Given the description of an element on the screen output the (x, y) to click on. 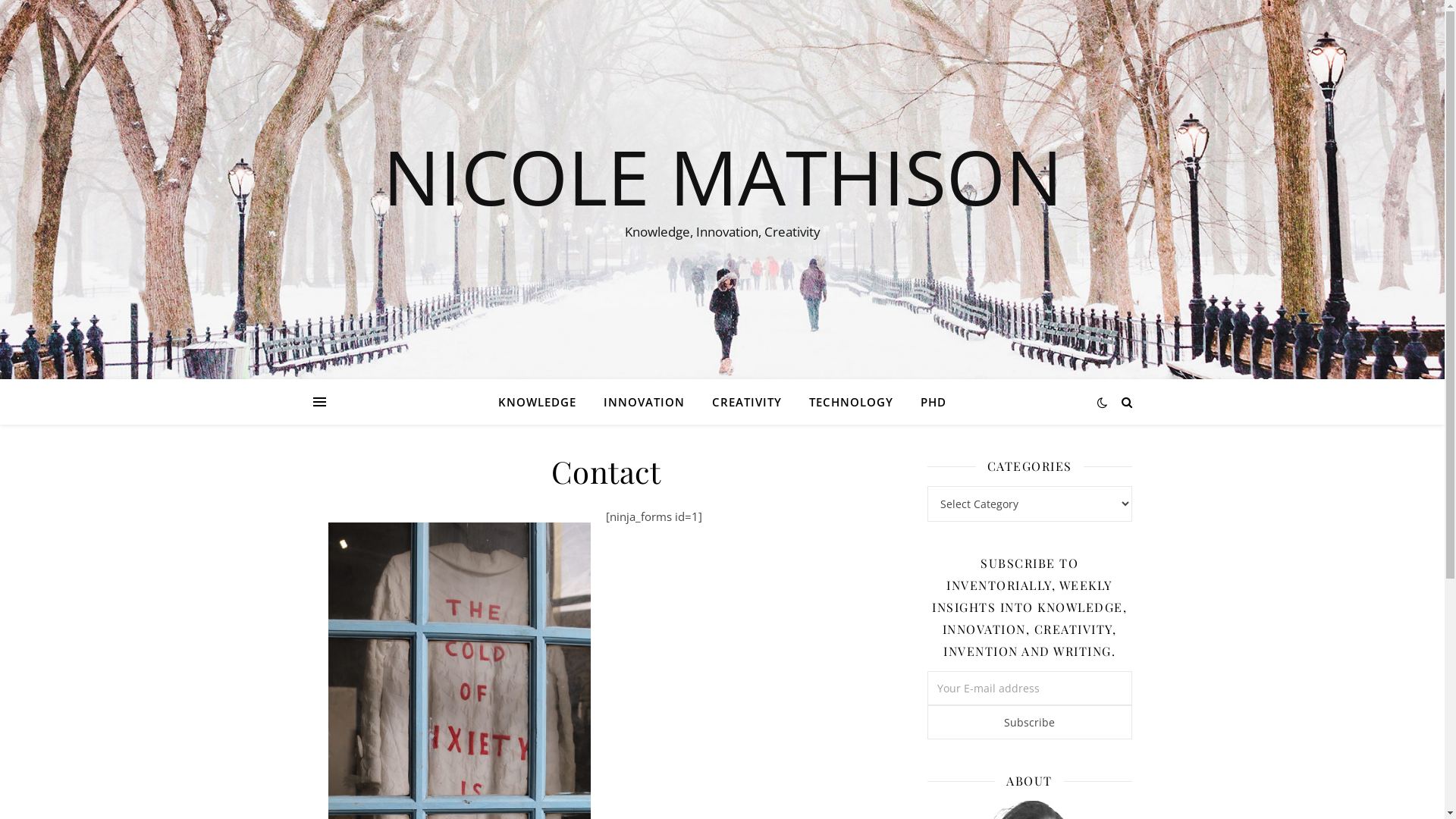
Subscribe Element type: text (1028, 722)
TECHNOLOGY Element type: text (851, 401)
INNOVATION Element type: text (643, 401)
CREATIVITY Element type: text (746, 401)
KNOWLEDGE Element type: text (543, 401)
PHD Element type: text (927, 401)
NICOLE MATHISON Element type: text (722, 175)
